Given the description of an element on the screen output the (x, y) to click on. 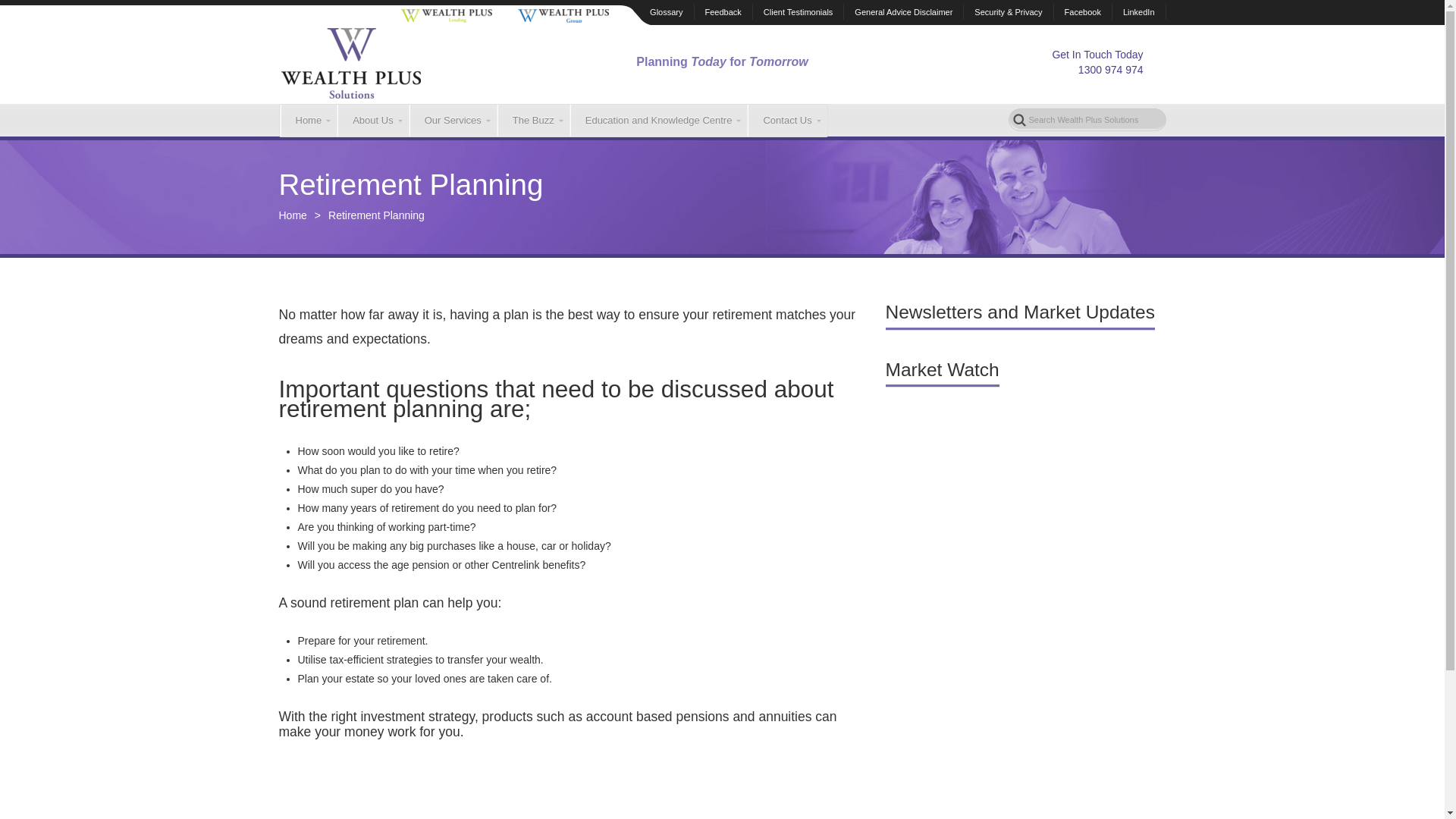
Wealth Plus Solutions (351, 62)
Facebook (1083, 11)
LinkedIn (1139, 11)
Feedback (723, 11)
Contact Us (786, 120)
Home (307, 120)
Wealth Plus Lending (446, 15)
Home (300, 215)
Glossary (666, 11)
General Advice Disclaimer (903, 11)
Get In Touch Today (1096, 54)
Client Testimonials (798, 11)
1300 974 974 (1110, 69)
Search (26, 11)
Wealth Plus Group (563, 15)
